Given the description of an element on the screen output the (x, y) to click on. 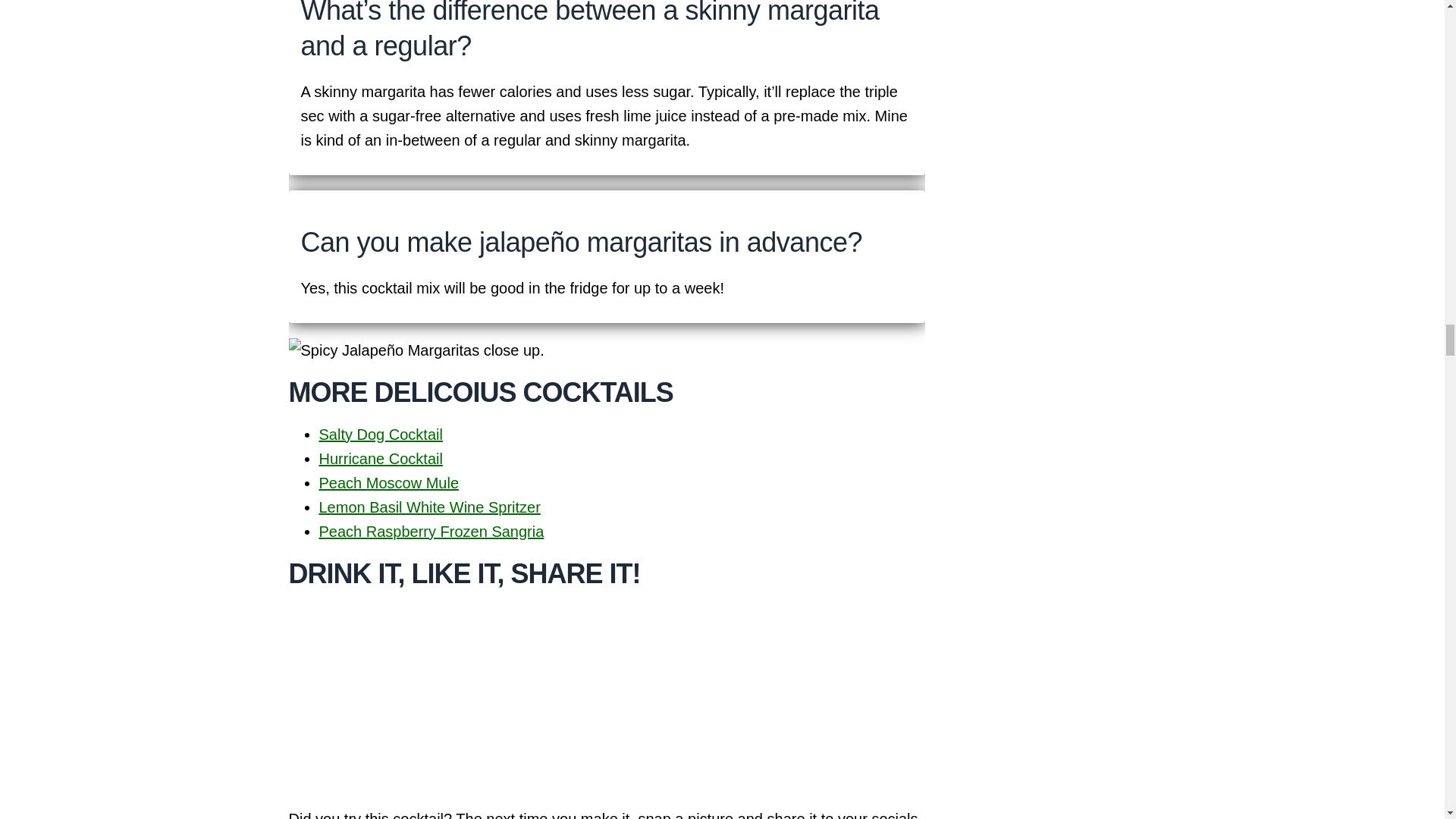
Peach Raspberry Frozen Sangria (430, 531)
Hurricane Cocktail (380, 458)
Salty Dog Cocktail (380, 434)
Peach Moscow Mule (388, 483)
Lemon Basil White Wine Spritzer (429, 506)
